Given the description of an element on the screen output the (x, y) to click on. 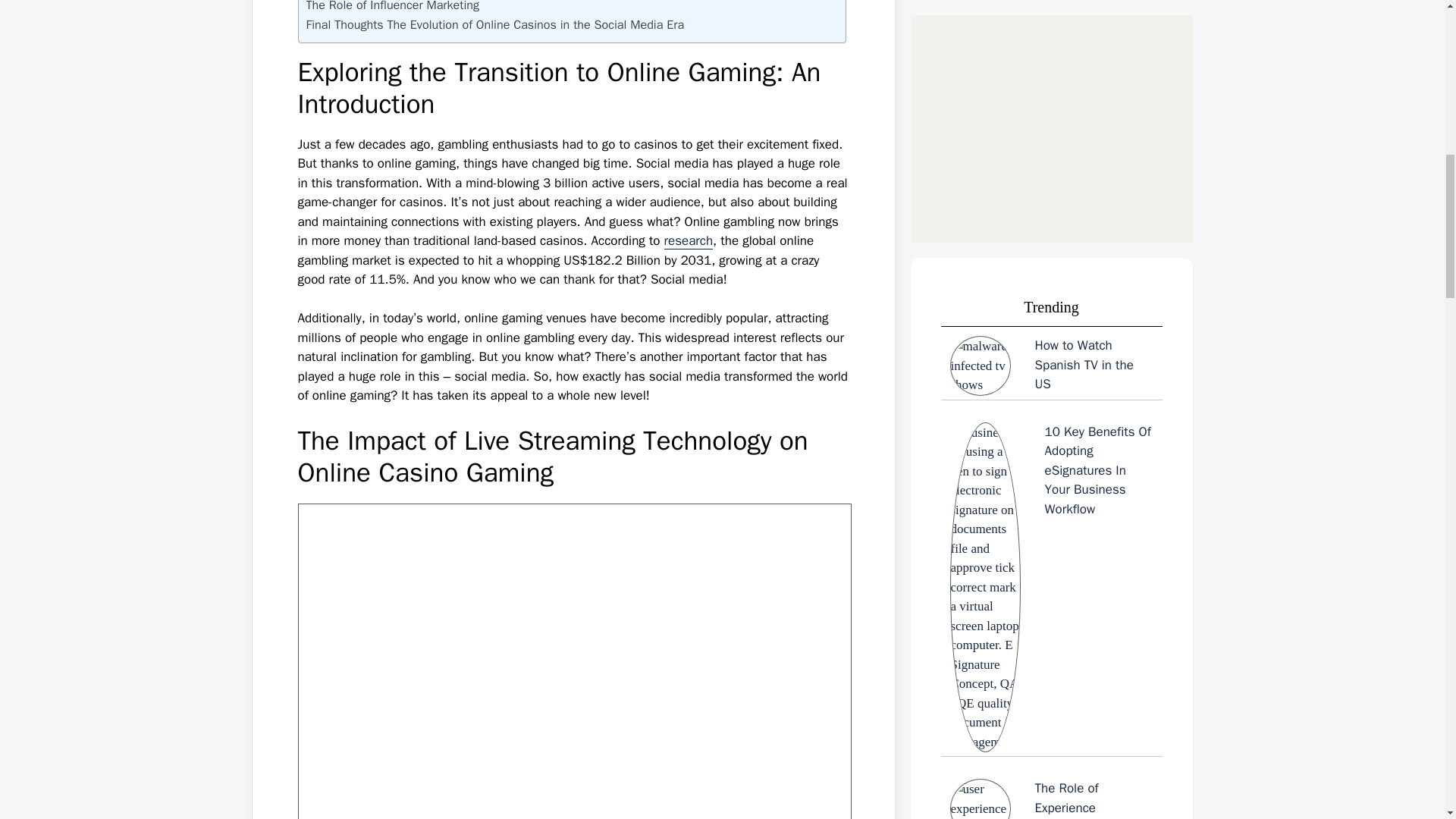
The Role of Influencer Marketing (392, 7)
research (688, 240)
The Role of Influencer Marketing (392, 7)
How To Set Strategic Business Priorities In 2024 (1051, 496)
Navigating the Maze: Understanding Search Engine Redirects (1051, 170)
The Impact Of Proactive IT Support On Business Continuity (1051, 659)
The Role of Experience Platforms in Customer Interactions  (1051, 57)
